Given the description of an element on the screen output the (x, y) to click on. 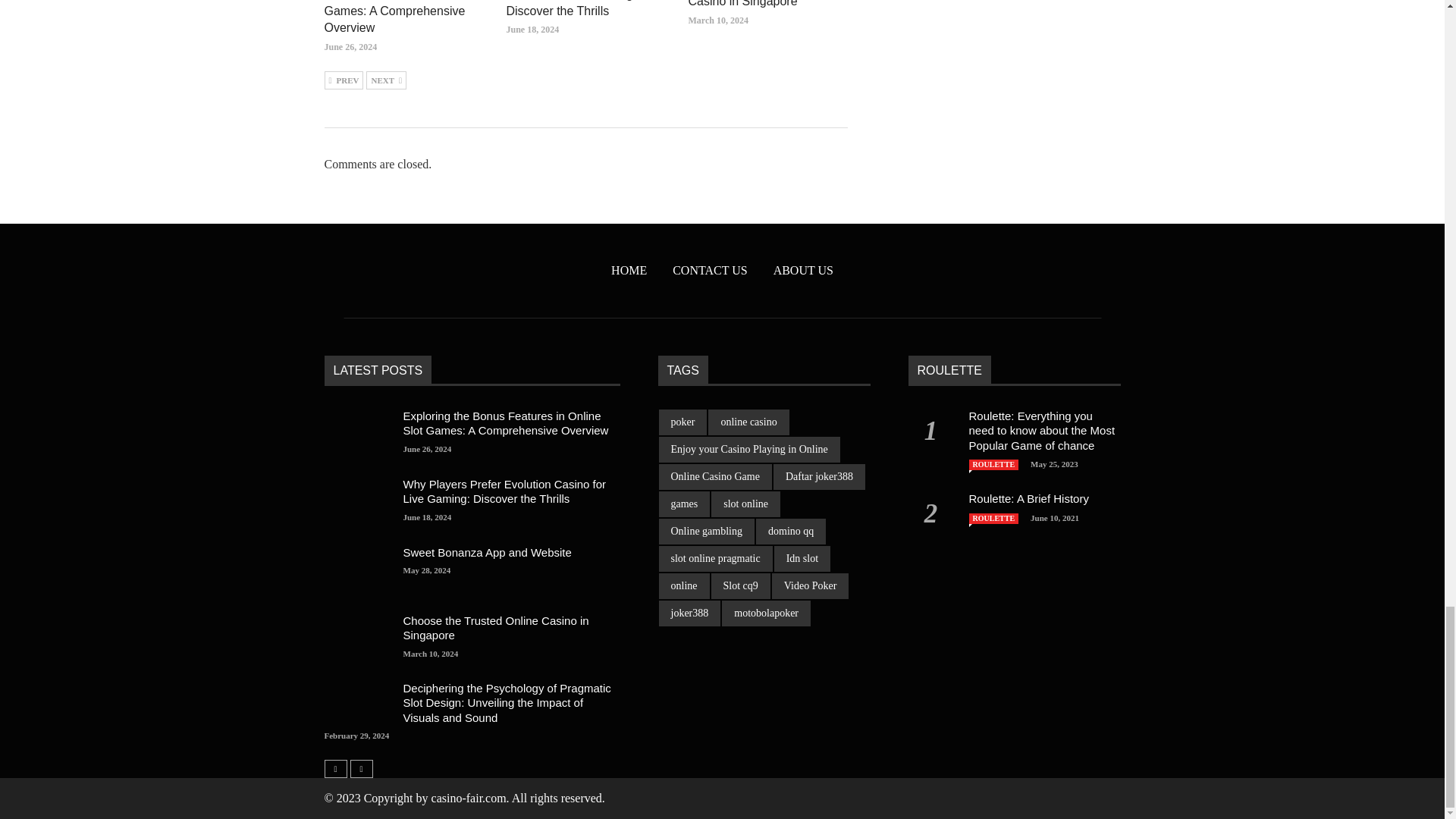
Previous (344, 80)
Next (386, 80)
